Given the description of an element on the screen output the (x, y) to click on. 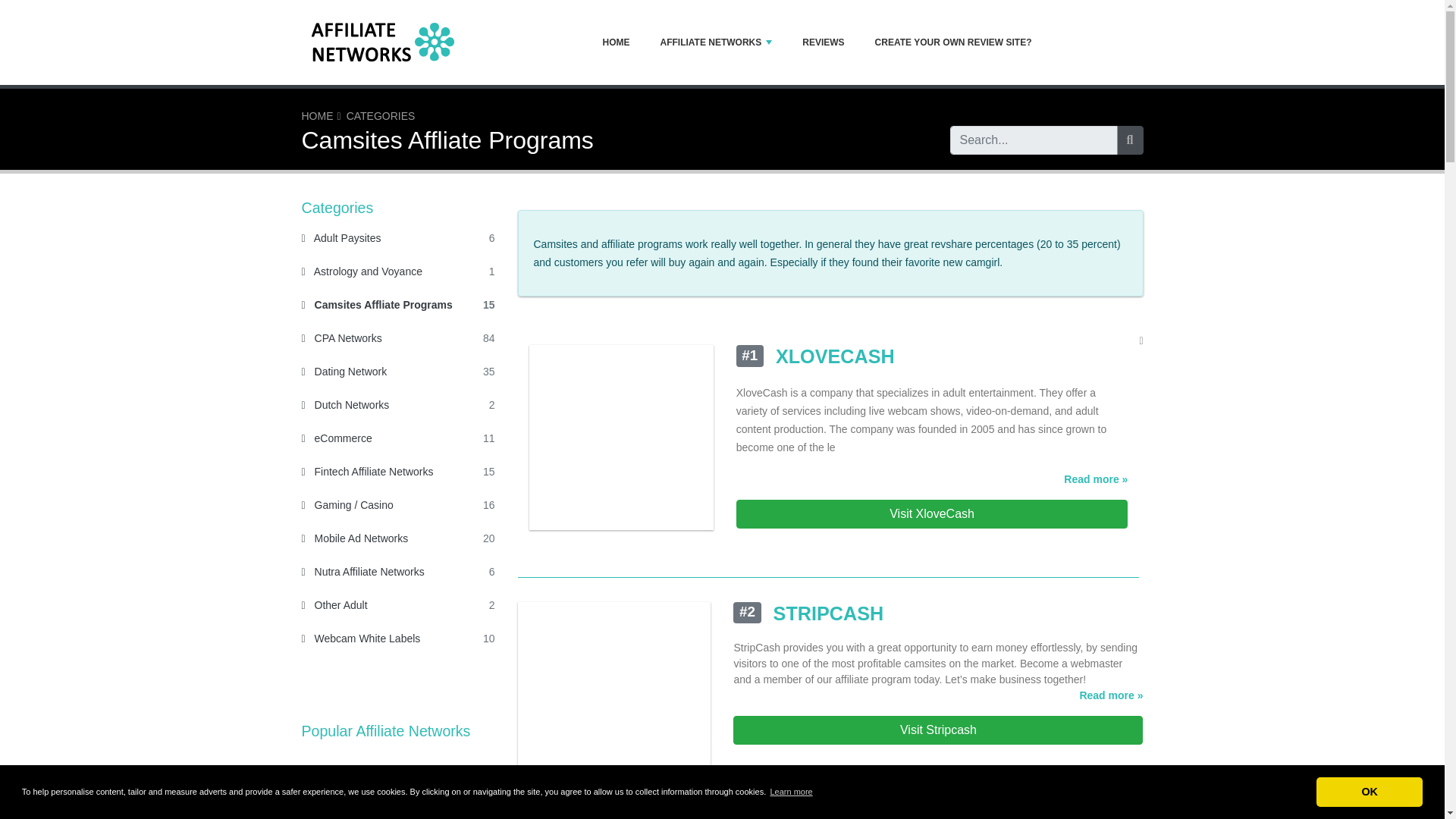
Complete List (398, 803)
OK (1369, 791)
Learn more (790, 791)
Looking for Affiliate Networks? (317, 115)
CREATE YOUR OWN REVIEW SITE? (367, 471)
AffiliateNetworks (953, 41)
REVIEWS (396, 42)
Webcam White Labels (336, 438)
CPA Networks (376, 304)
Astrology and Voyance (823, 41)
